Given the description of an element on the screen output the (x, y) to click on. 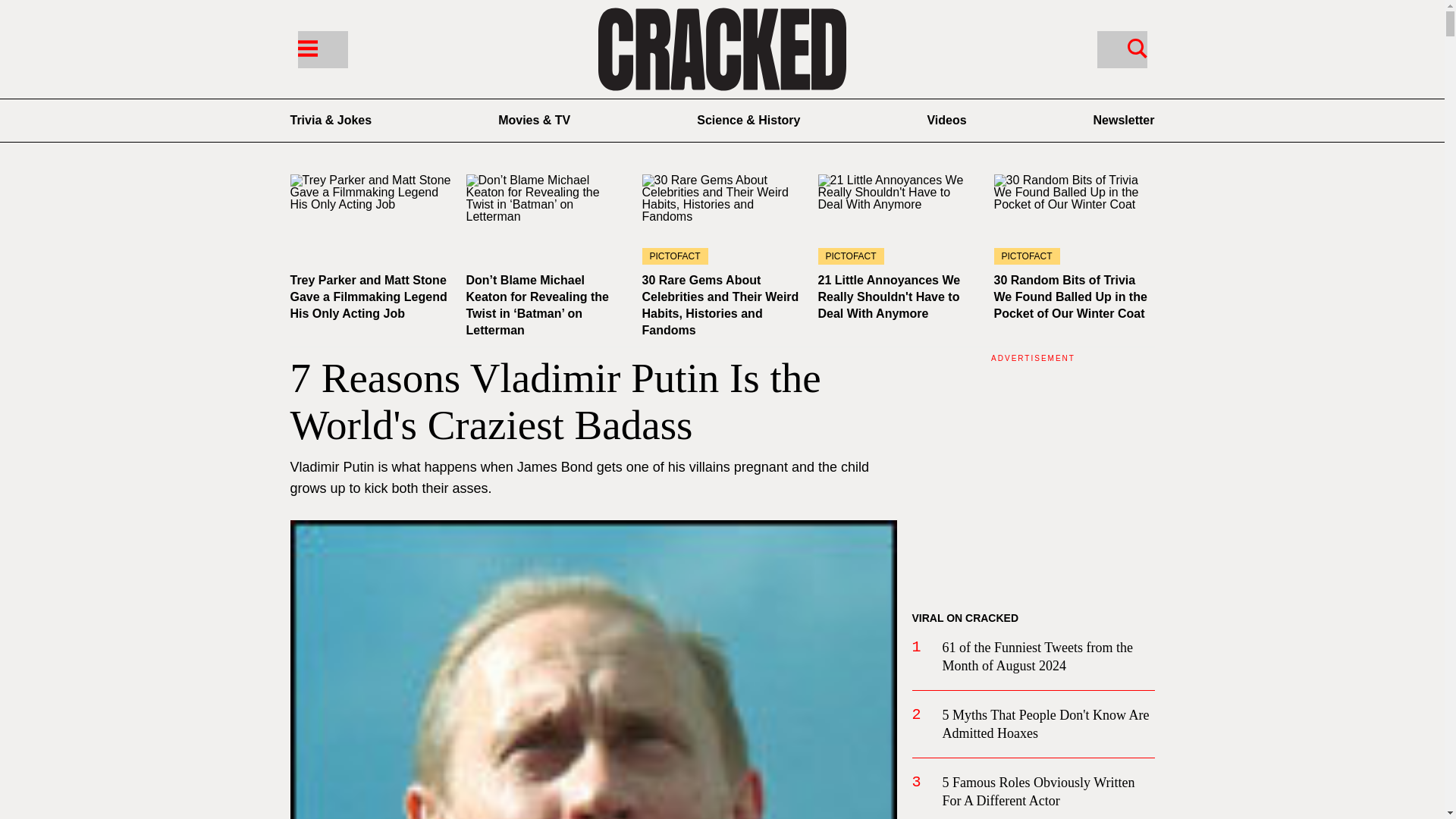
PICTOFACT (897, 219)
PICTOFACT (1073, 219)
Cracked Newsletter (1123, 119)
PICTOFACT (722, 219)
Videos (946, 119)
Search (1121, 48)
Menu (322, 48)
